Given the description of an element on the screen output the (x, y) to click on. 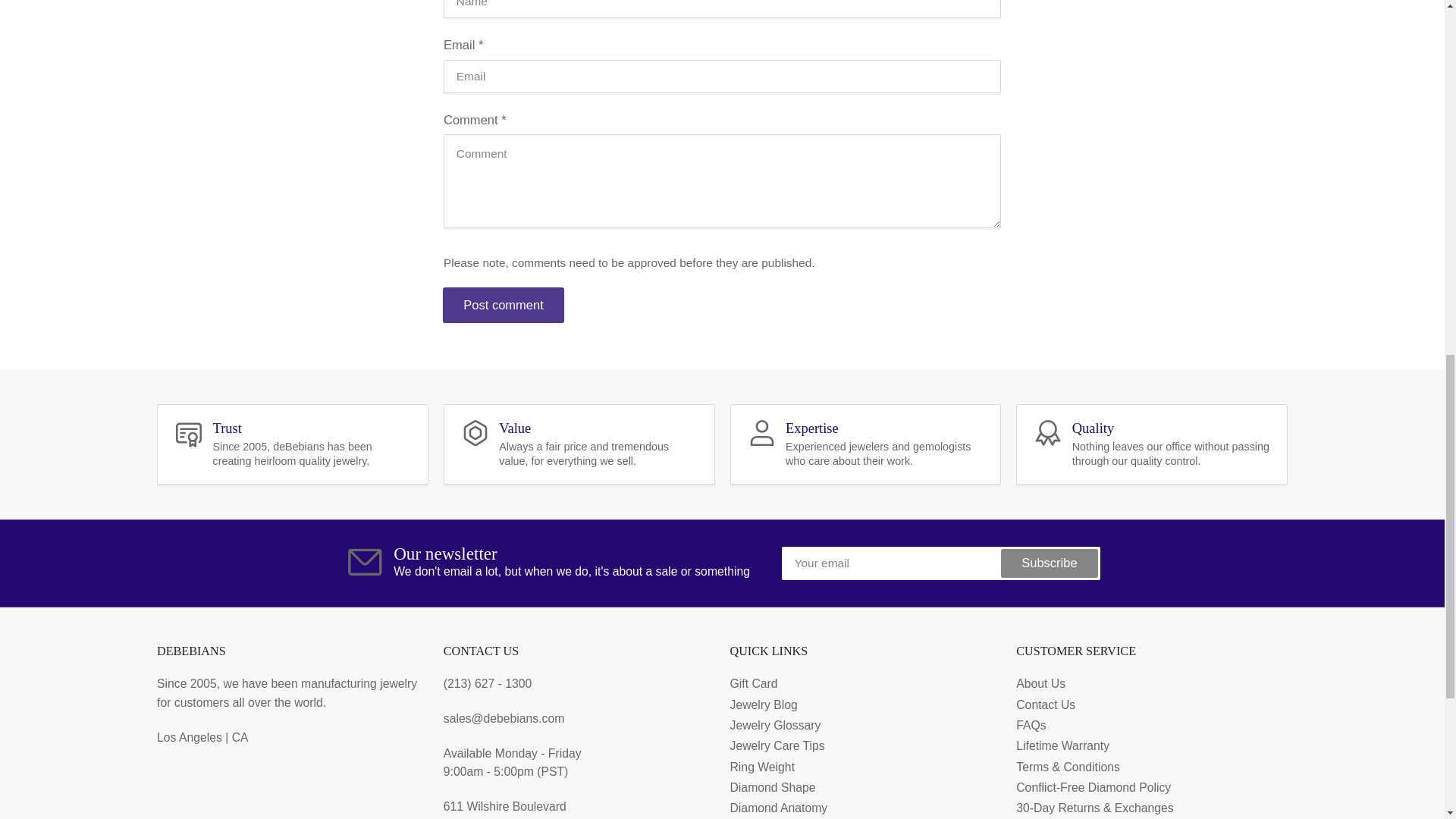
Post comment (503, 305)
